Given the description of an element on the screen output the (x, y) to click on. 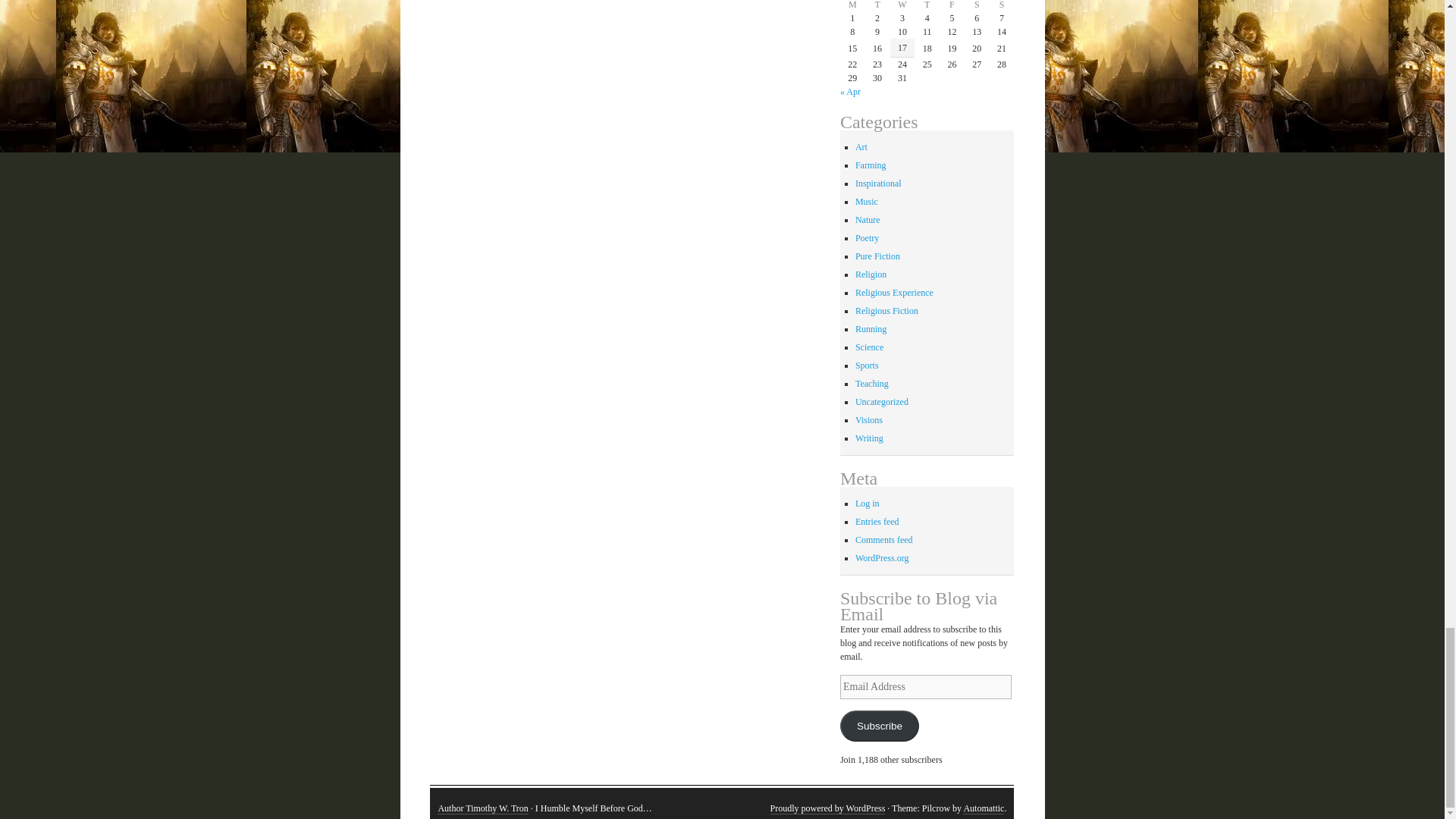
Monday (852, 5)
